Given the description of an element on the screen output the (x, y) to click on. 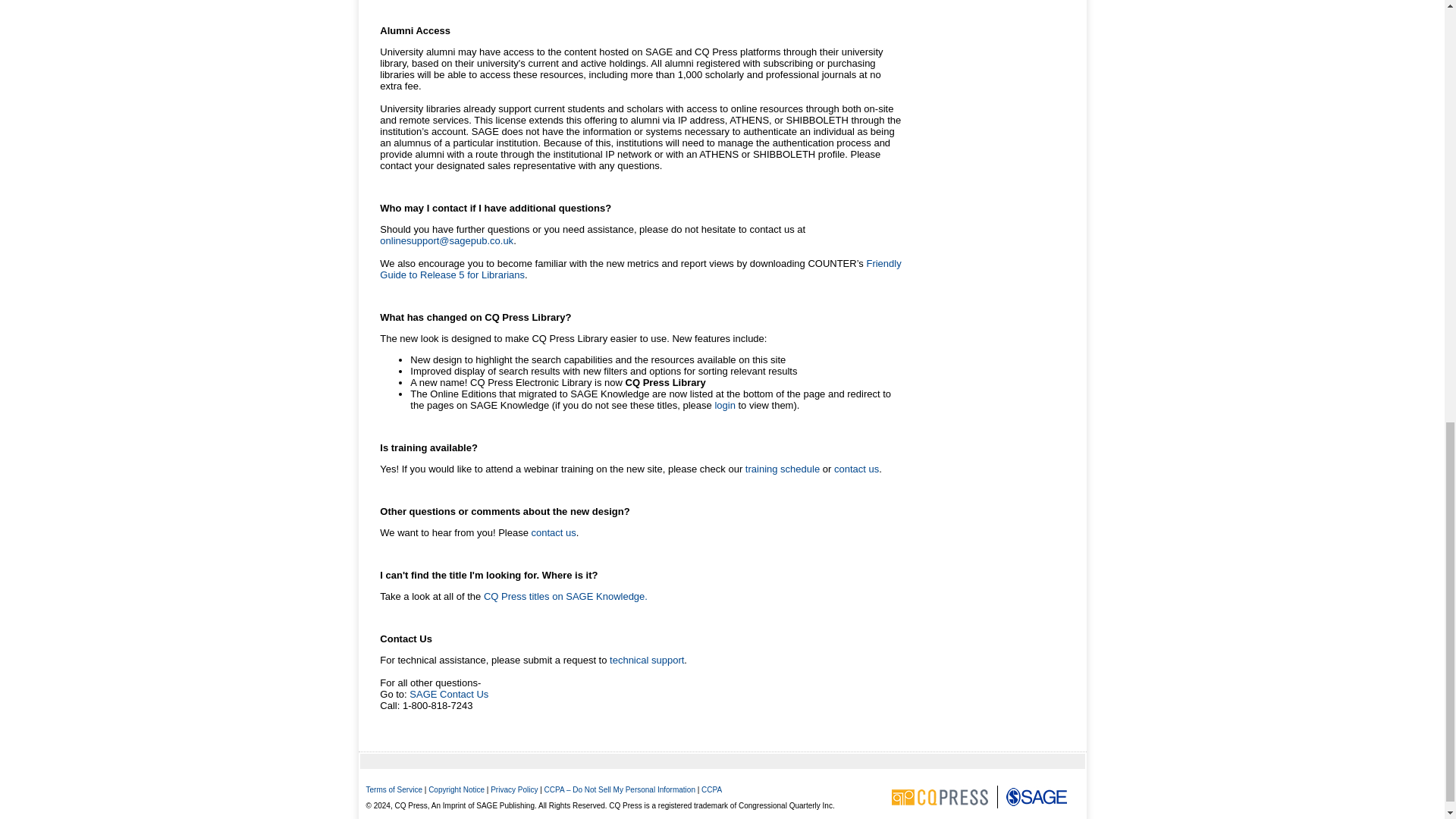
Who may I contact if I have additional questions? (495, 207)
Friendly Guide to Release 5 for Librarians (640, 268)
Alumni Access (414, 30)
